Given the description of an element on the screen output the (x, y) to click on. 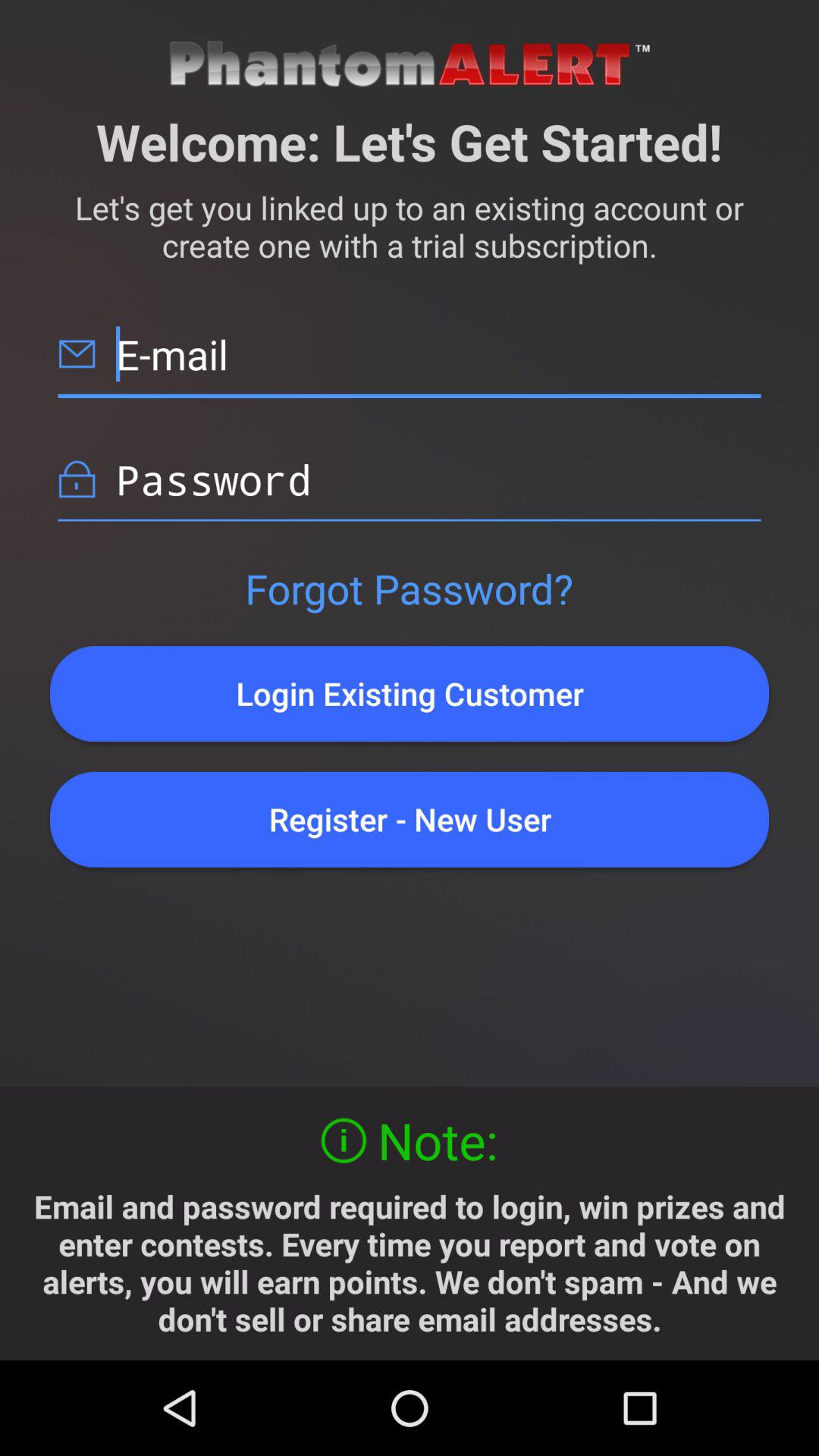
swipe until the register - new user item (409, 819)
